Given the description of an element on the screen output the (x, y) to click on. 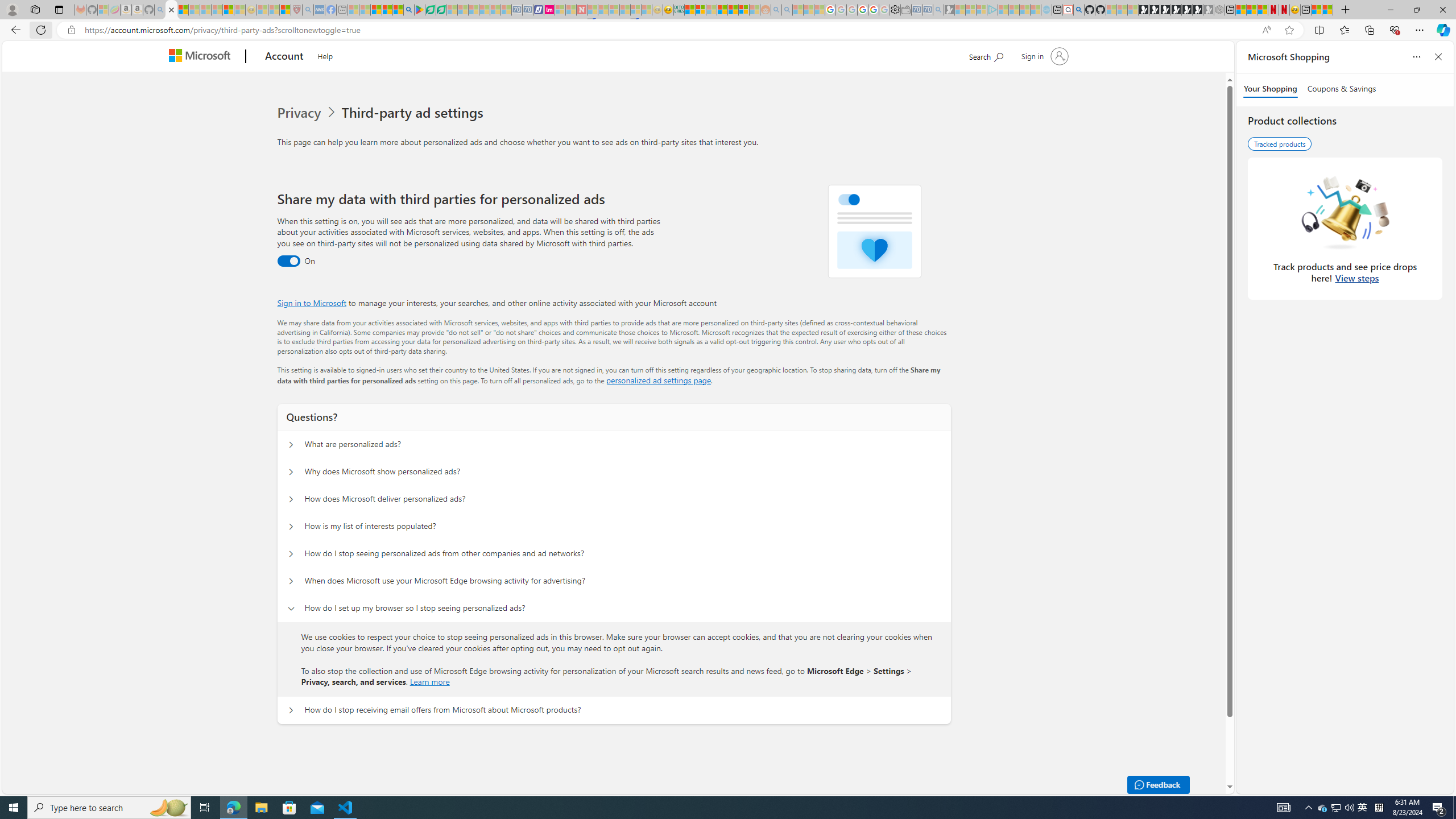
Kinda Frugal - MSN (733, 9)
Expert Portfolios (721, 9)
Questions? How does Microsoft deliver personalized ads? (290, 499)
Account (283, 56)
